Given the description of an element on the screen output the (x, y) to click on. 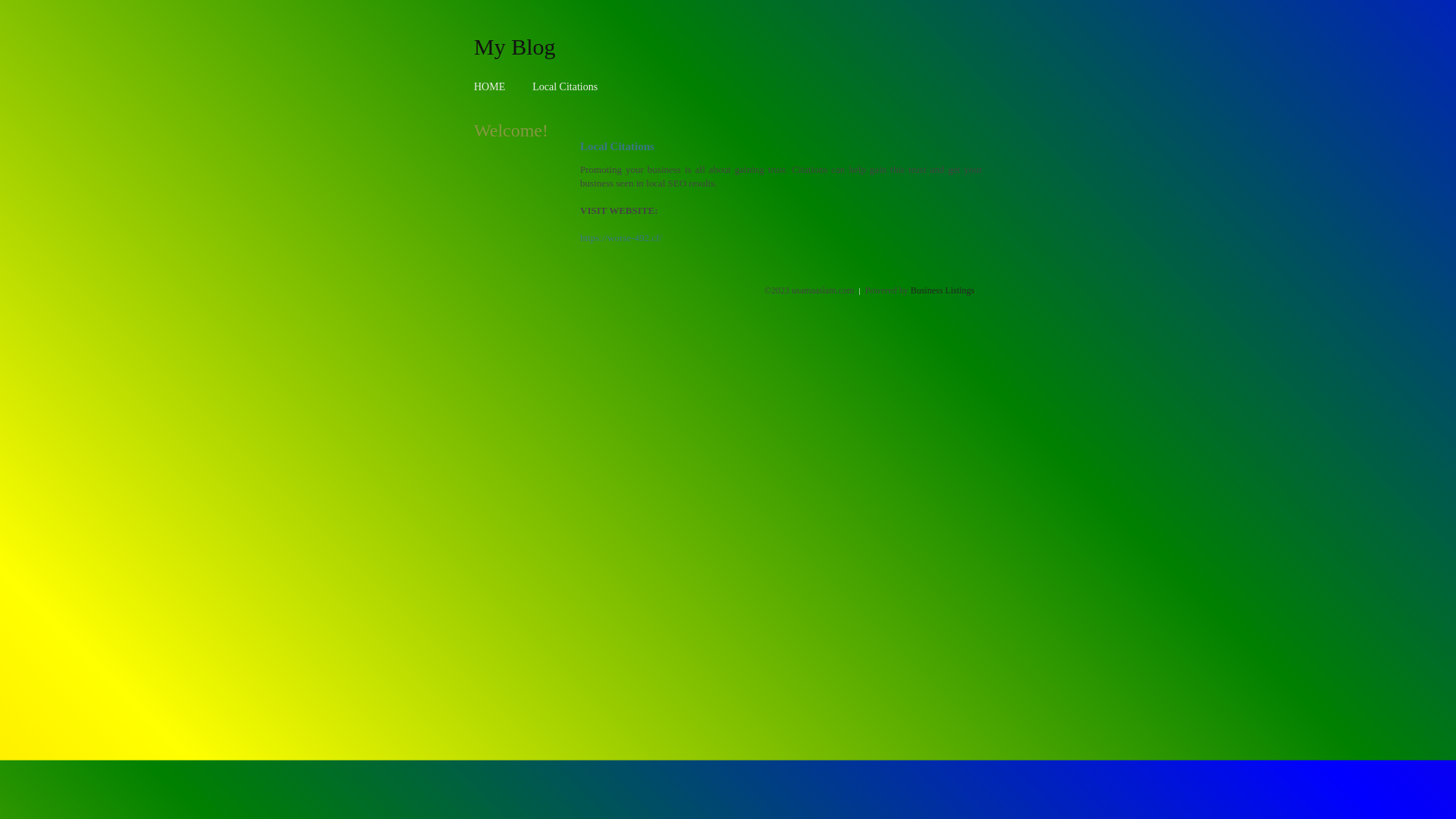
https://worse-492.cf/ Element type: text (621, 237)
HOME Element type: text (489, 86)
Local Citations Element type: text (564, 86)
Business Listings Element type: text (942, 290)
My Blog Element type: text (514, 46)
